Given the description of an element on the screen output the (x, y) to click on. 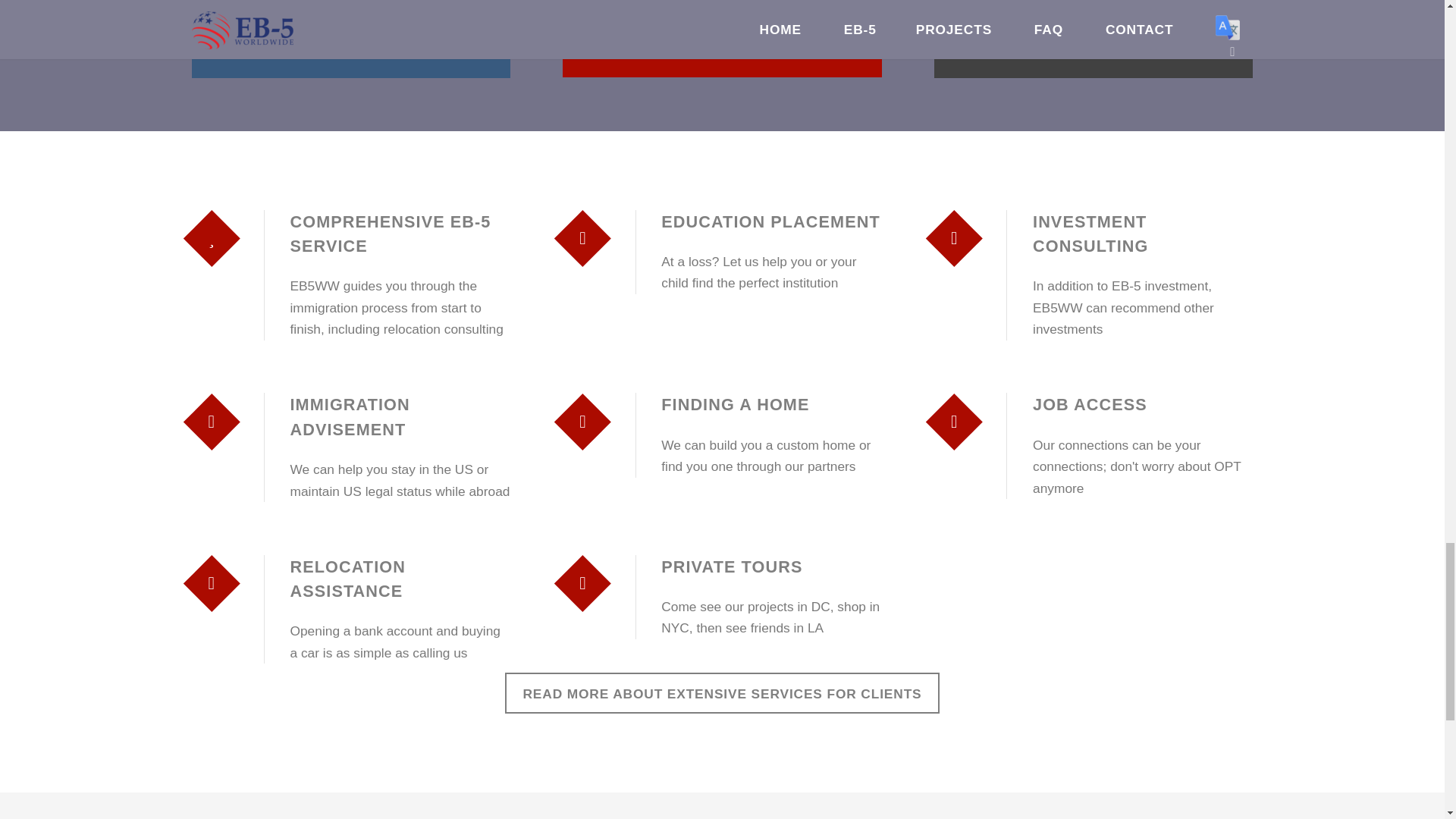
READ MORE ABOUT EXTENSIVE SERVICES FOR CLIENTS (1093, 38)
